Given the description of an element on the screen output the (x, y) to click on. 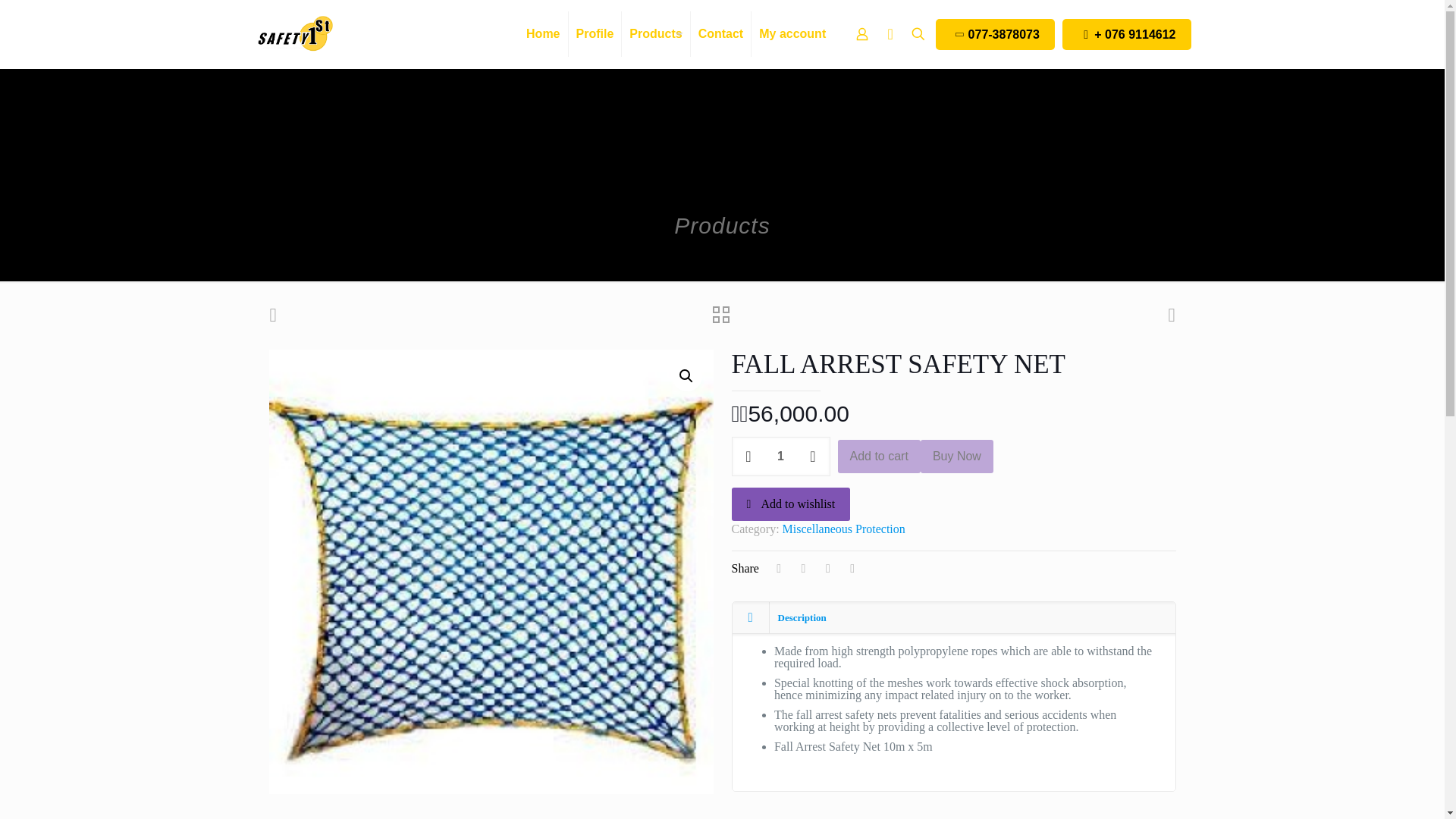
1 (779, 455)
Contact (721, 33)
Miscellaneous Protection (660, 251)
077-3878073 (995, 33)
Home (552, 251)
Products (655, 33)
My account (791, 33)
SafetyFirst (294, 33)
